Given the description of an element on the screen output the (x, y) to click on. 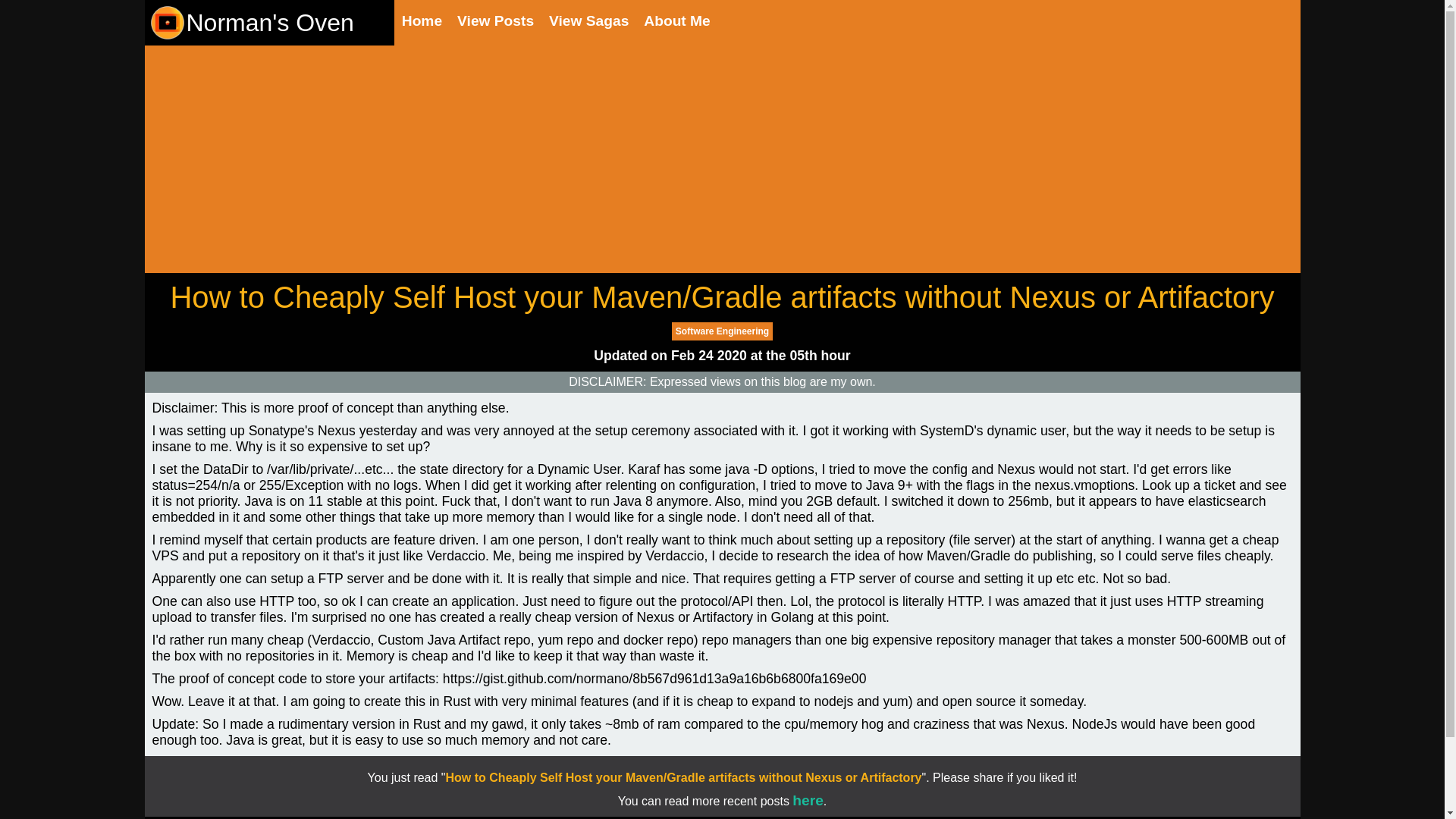
Software Engineering (722, 331)
here (808, 800)
Norman's Oven (250, 22)
About Me (676, 21)
View Posts (495, 21)
Home (421, 21)
View Sagas (588, 21)
